Given the description of an element on the screen output the (x, y) to click on. 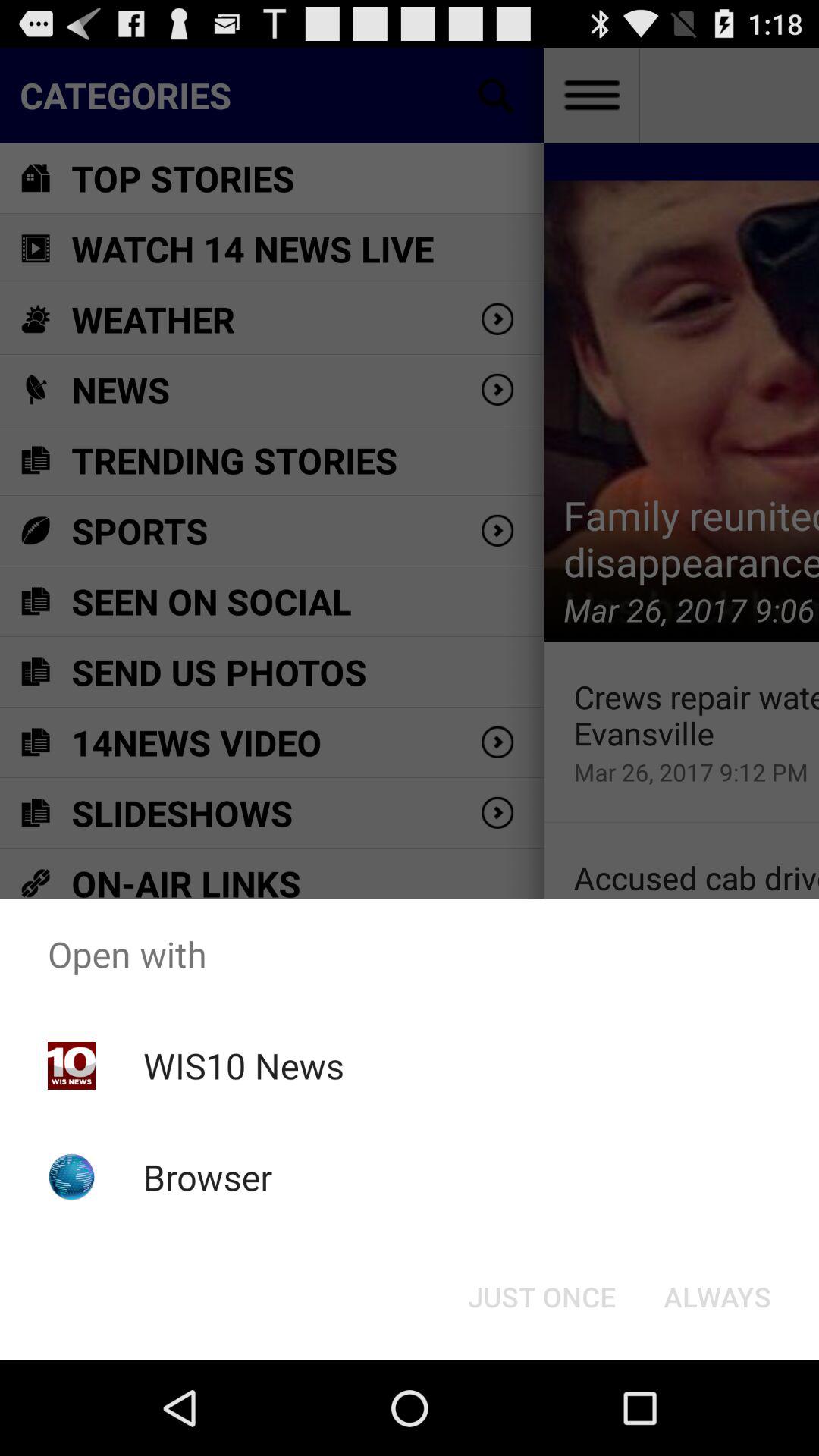
swipe to always (717, 1296)
